Given the description of an element on the screen output the (x, y) to click on. 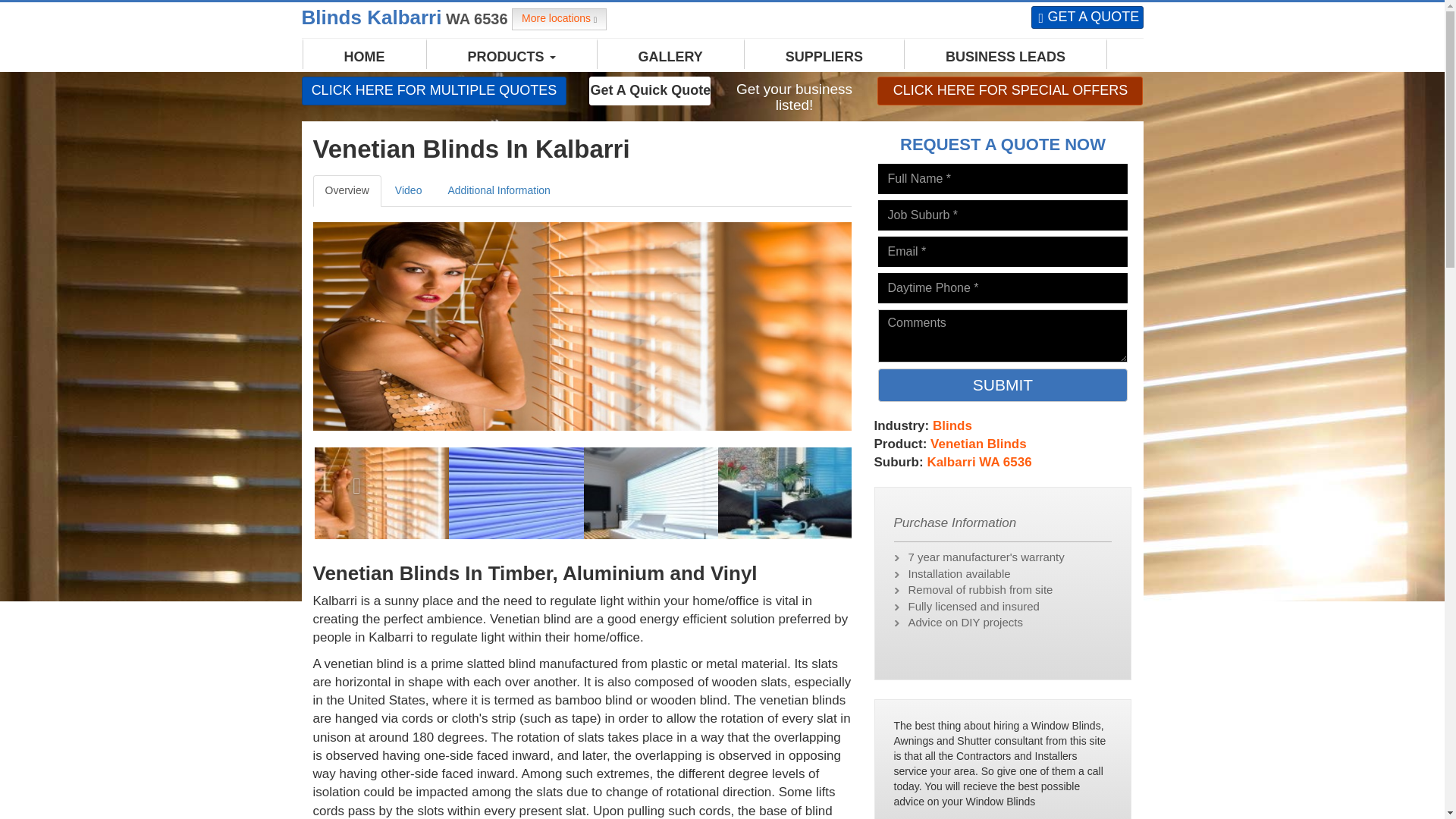
 Business Leads (1005, 56)
Special Offers (1009, 90)
More locations (559, 19)
Get a Quick Quote (649, 90)
HOME (363, 56)
Home Page (363, 56)
prev (353, 481)
GET A QUOTE (1086, 16)
CLICK HERE FOR multiple Quotes (434, 90)
 Get your business listed! (794, 97)
PRODUCTS (512, 56)
Blinds Kalbarri WA 6536 (406, 16)
Overview (346, 191)
Video (407, 191)
Additional Information (498, 191)
